Given the description of an element on the screen output the (x, y) to click on. 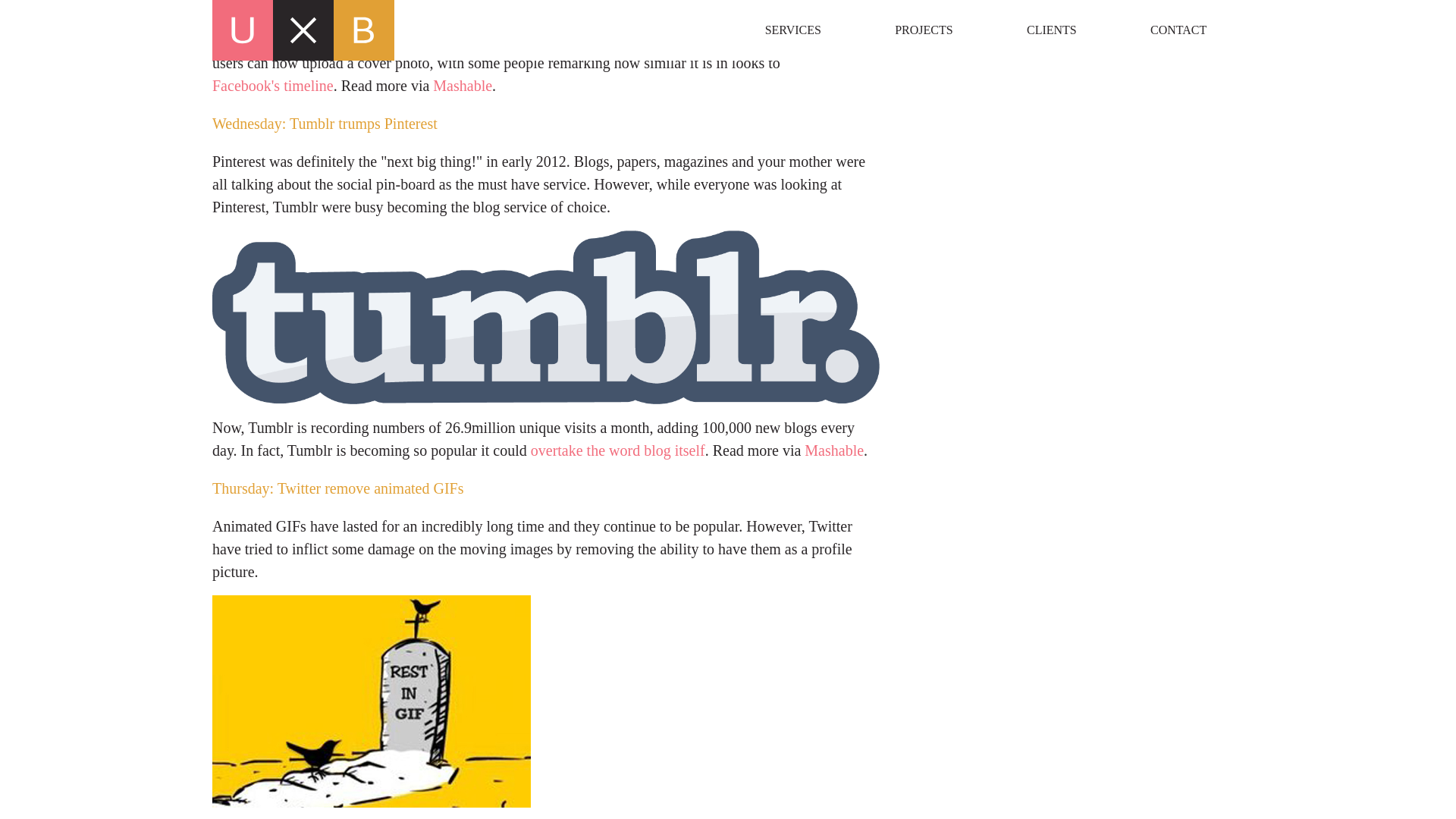
Mashable (462, 85)
overtake the word blog itself (617, 449)
Mashable (834, 449)
Facebook's timeline (272, 85)
